Given the description of an element on the screen output the (x, y) to click on. 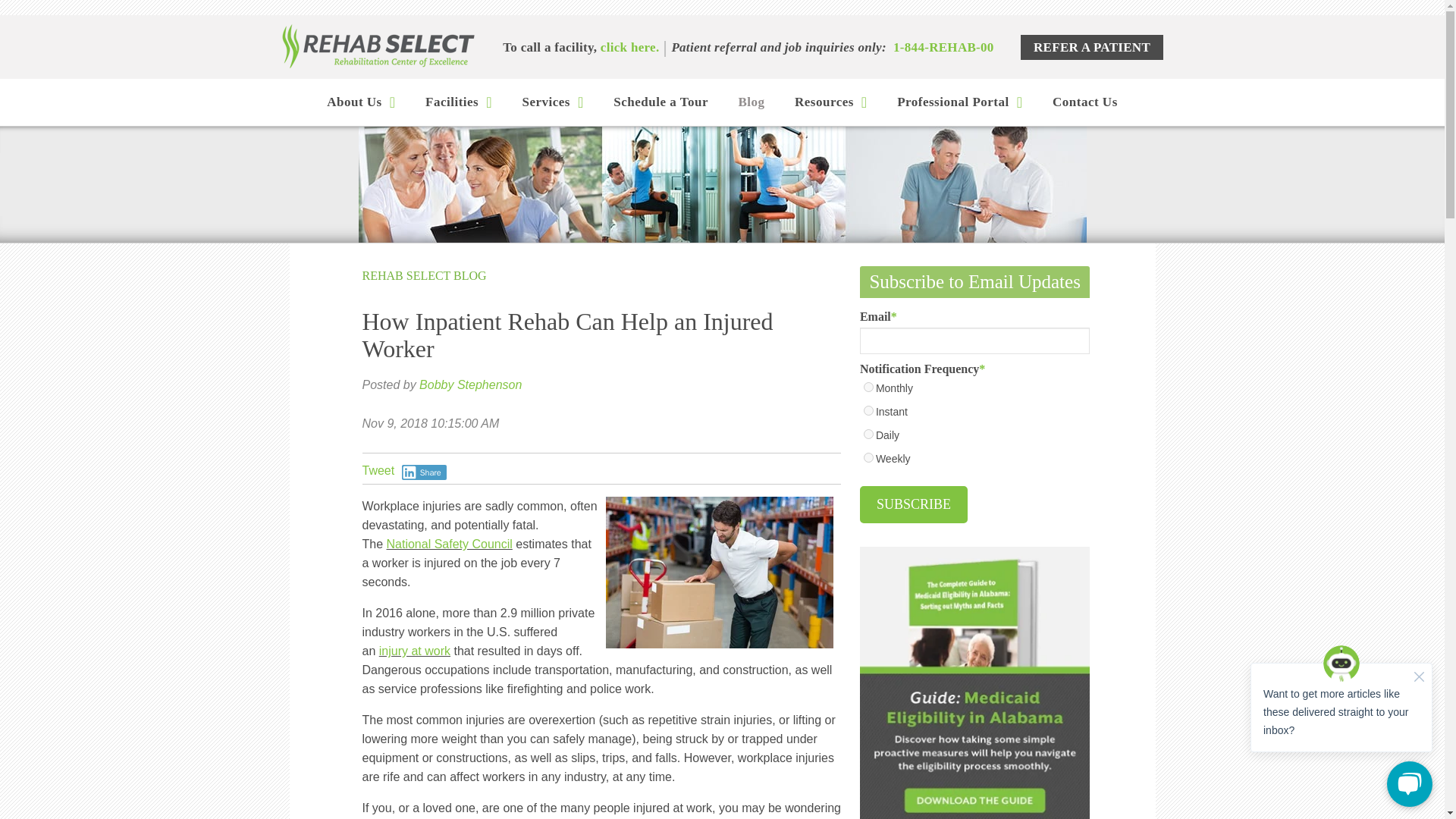
REFER A PATIENT (1091, 47)
Facilities (458, 102)
weekly (868, 457)
Subscribe (914, 504)
monthly (868, 387)
click here. (629, 47)
REFER A PATIENT (1091, 47)
About Us (361, 102)
LearnBannerRS.jpg (722, 184)
instant (868, 410)
Services (552, 102)
daily (868, 433)
1-844-REHAB-00 (943, 47)
